Given the description of an element on the screen output the (x, y) to click on. 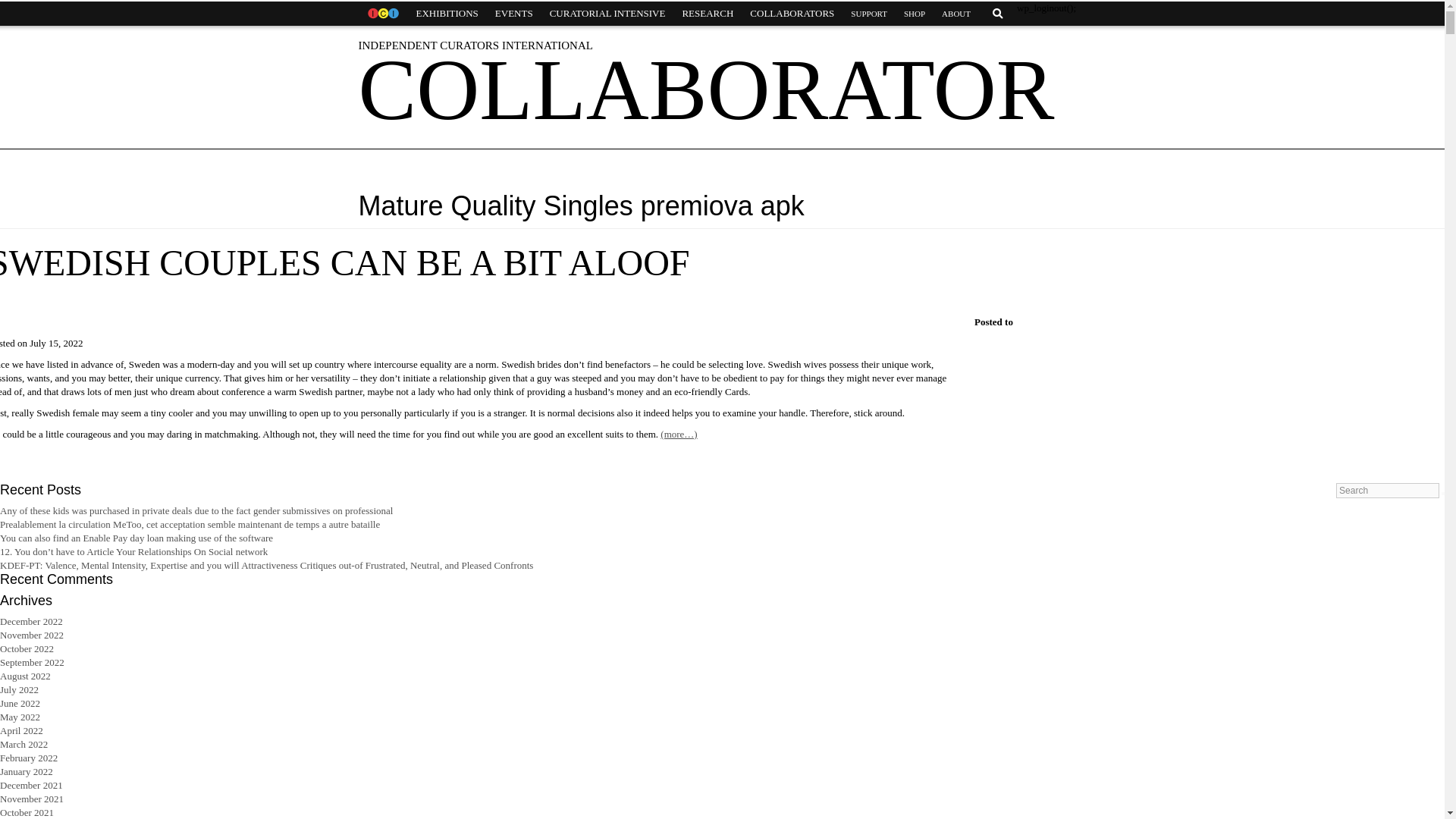
RESEARCH (706, 13)
CURATORIAL INTENSIVE (607, 13)
HOME (382, 13)
EVENTS (513, 13)
EXHIBITIONS (446, 13)
COLLABORATORS (792, 13)
